Given the description of an element on the screen output the (x, y) to click on. 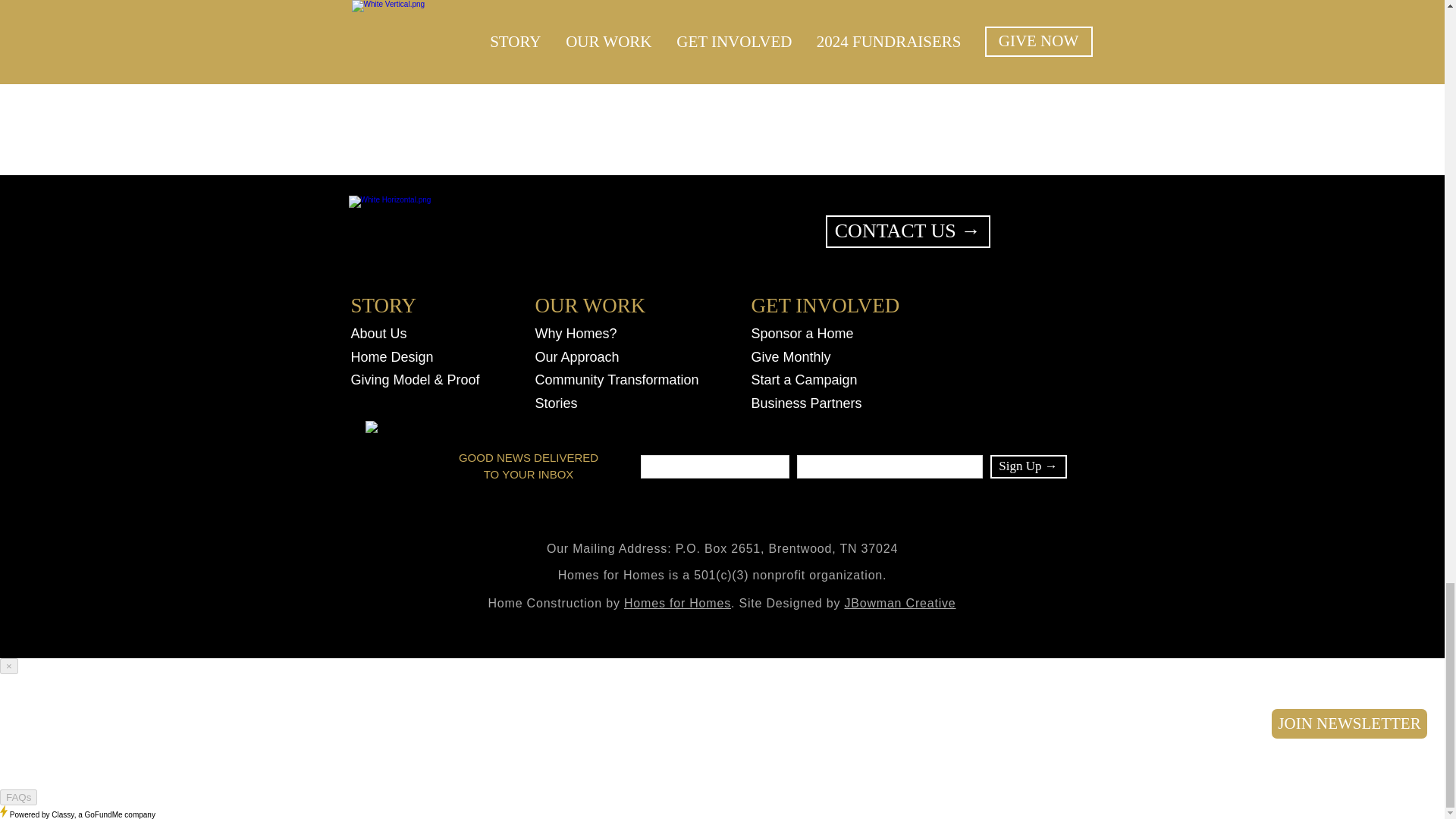
Our Approach (587, 357)
Home Design (393, 357)
Homes for Homes (677, 603)
Why Homes? (576, 333)
Community Transformation (616, 380)
Stories (564, 403)
Sponsor a Home (807, 333)
About Us (386, 333)
JBowman Creative (899, 603)
Business Partners (806, 403)
